Given the description of an element on the screen output the (x, y) to click on. 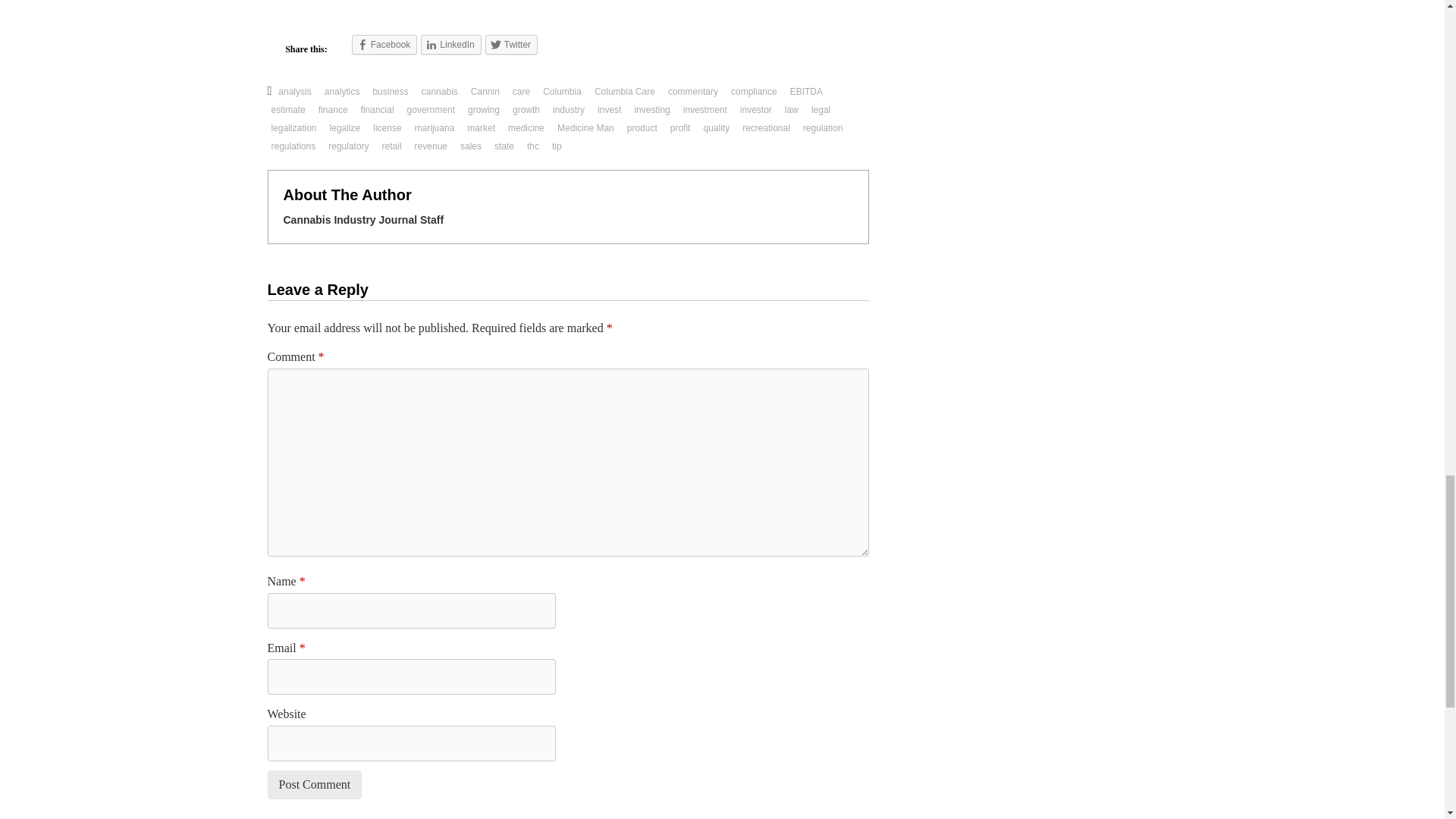
Click to share on LinkedIn (450, 44)
Post Comment (313, 784)
Click to share on Facebook (384, 44)
Click to share on Twitter (510, 44)
